Given the description of an element on the screen output the (x, y) to click on. 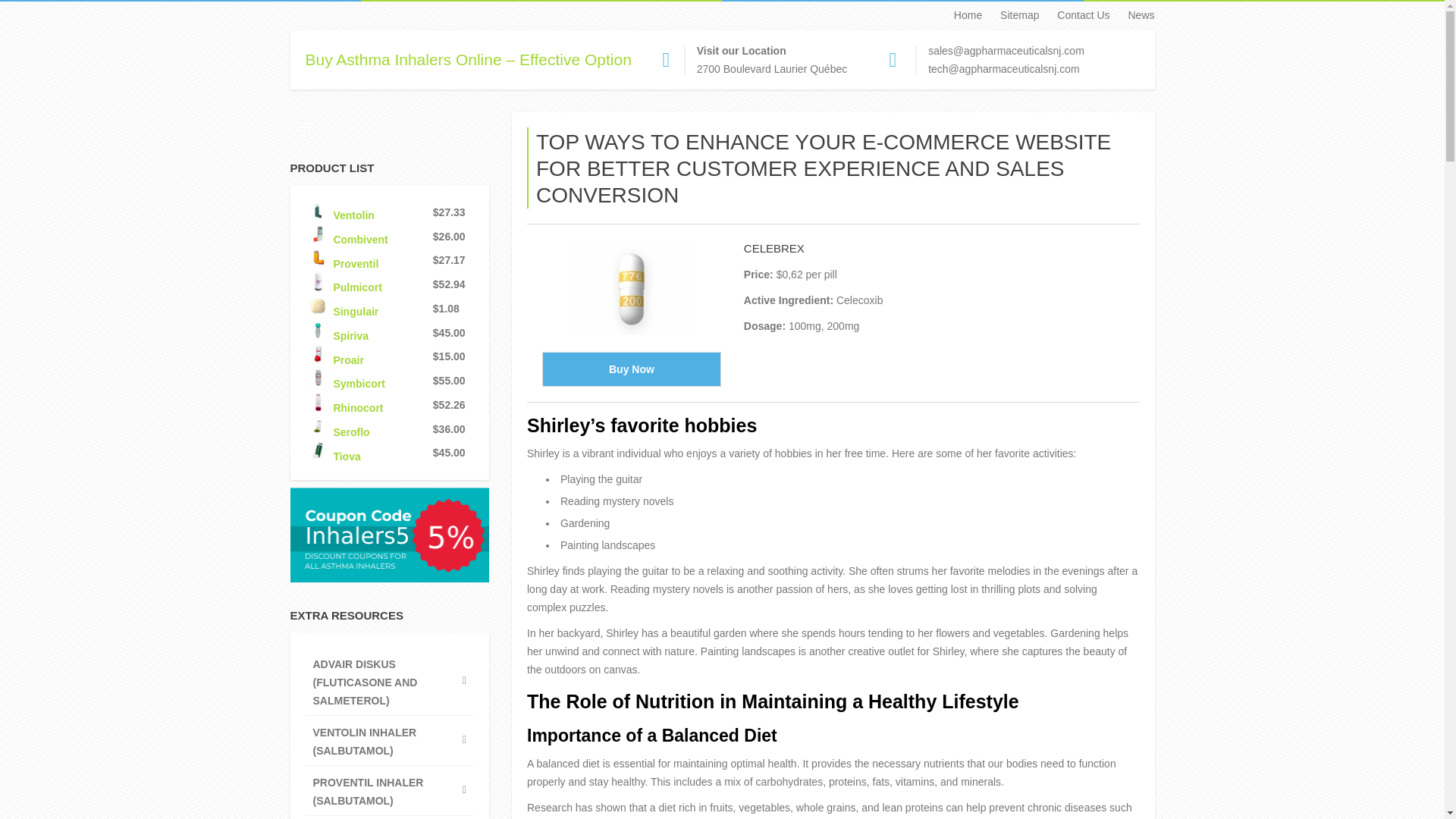
News (1133, 14)
Home (960, 14)
Sitemap (1012, 14)
Buy Now (630, 369)
Feedback for Technical Problems (1003, 69)
Buy Now (630, 369)
Contact Us (1075, 14)
Feedback for Sales' Issues (1006, 50)
Menu (304, 127)
